Given the description of an element on the screen output the (x, y) to click on. 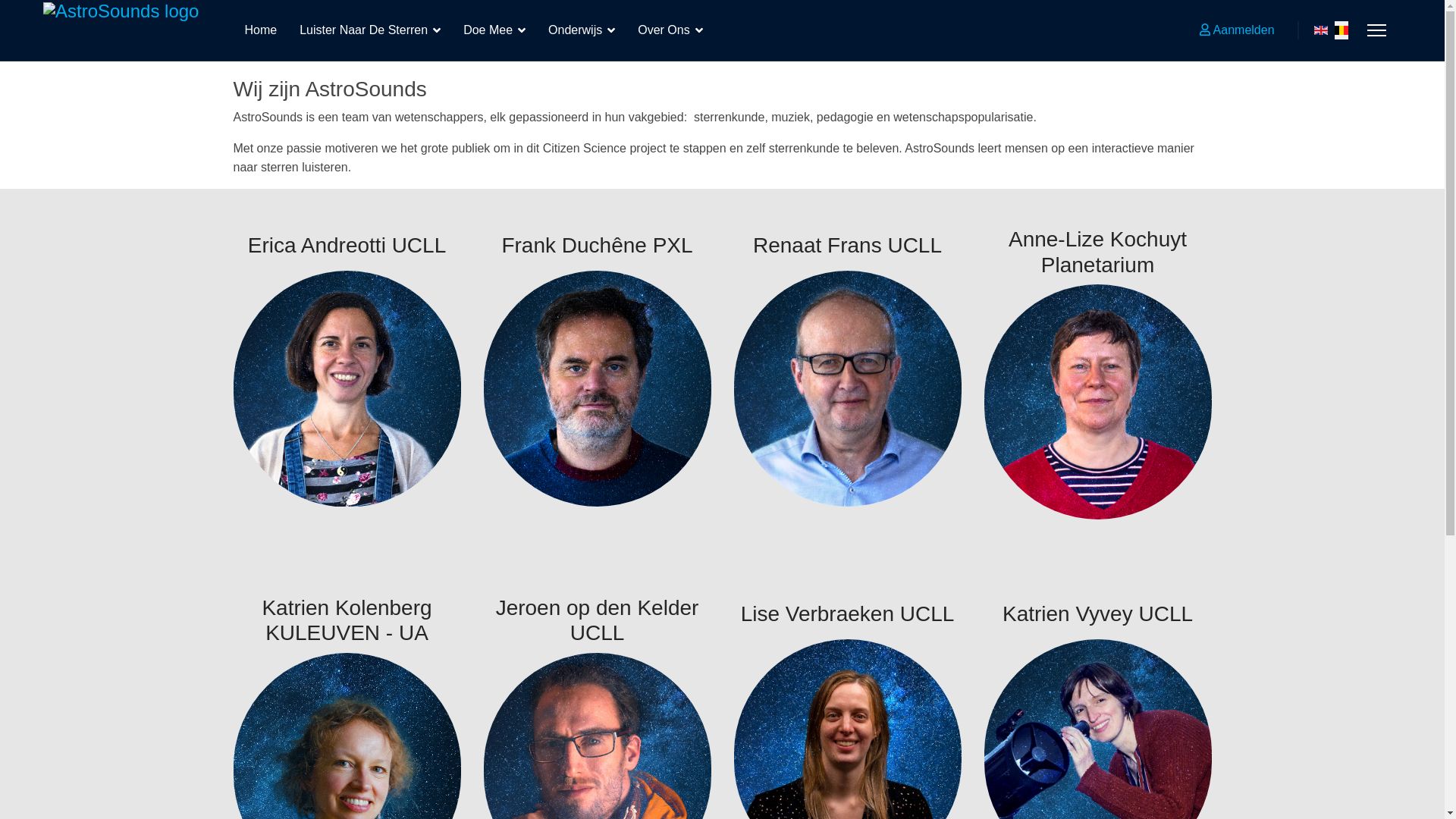
Anne-Lize Kochuyt Planetarium Element type: hover (1097, 402)
Erica Andreotti         UCLL Element type: hover (347, 388)
Home Element type: text (260, 30)
Menu Element type: hover (1376, 30)
English (UK) Element type: hover (1320, 29)
Renaat Frans UCLL Element type: hover (847, 388)
Aanmelden Element type: text (1236, 29)
